Given the description of an element on the screen output the (x, y) to click on. 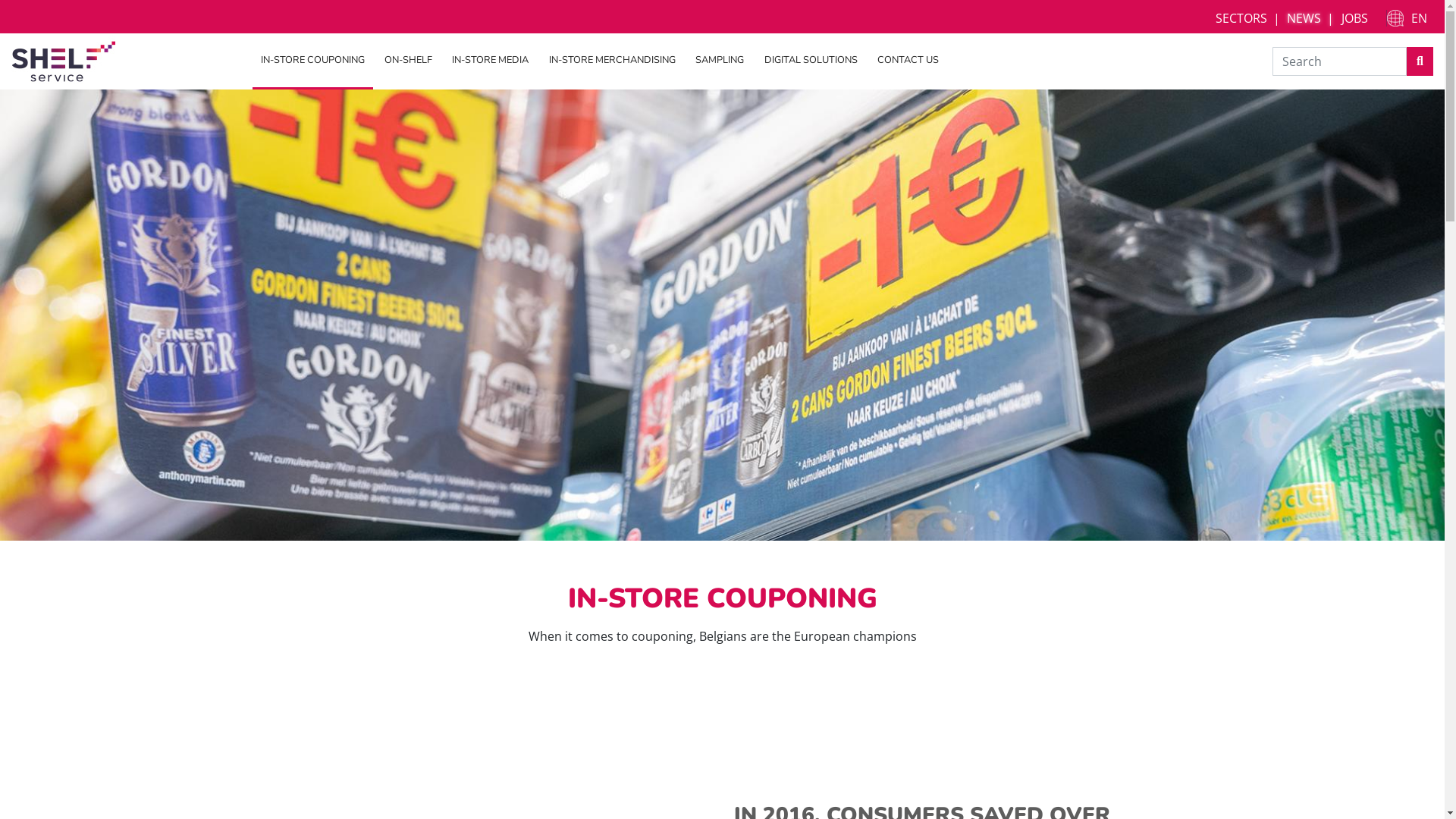
Home Element type: hover (63, 59)
SAMPLING Element type: text (719, 60)
IN-STORE MERCHANDISING Element type: text (612, 60)
NEWS Element type: text (1310, 17)
JOBS Element type: text (1354, 17)
IN-STORE COUPONING Element type: text (311, 60)
CONTACT US Element type: text (908, 60)
ON-SHELF Element type: text (408, 60)
IN-STORE MEDIA Element type: text (489, 60)
SECTORS Element type: text (1247, 17)
Enter the terms you wish to search for. Element type: hover (1339, 61)
DIGITAL SOLUTIONS Element type: text (810, 60)
Skip to main content Element type: text (0, 3)
